Given the description of an element on the screen output the (x, y) to click on. 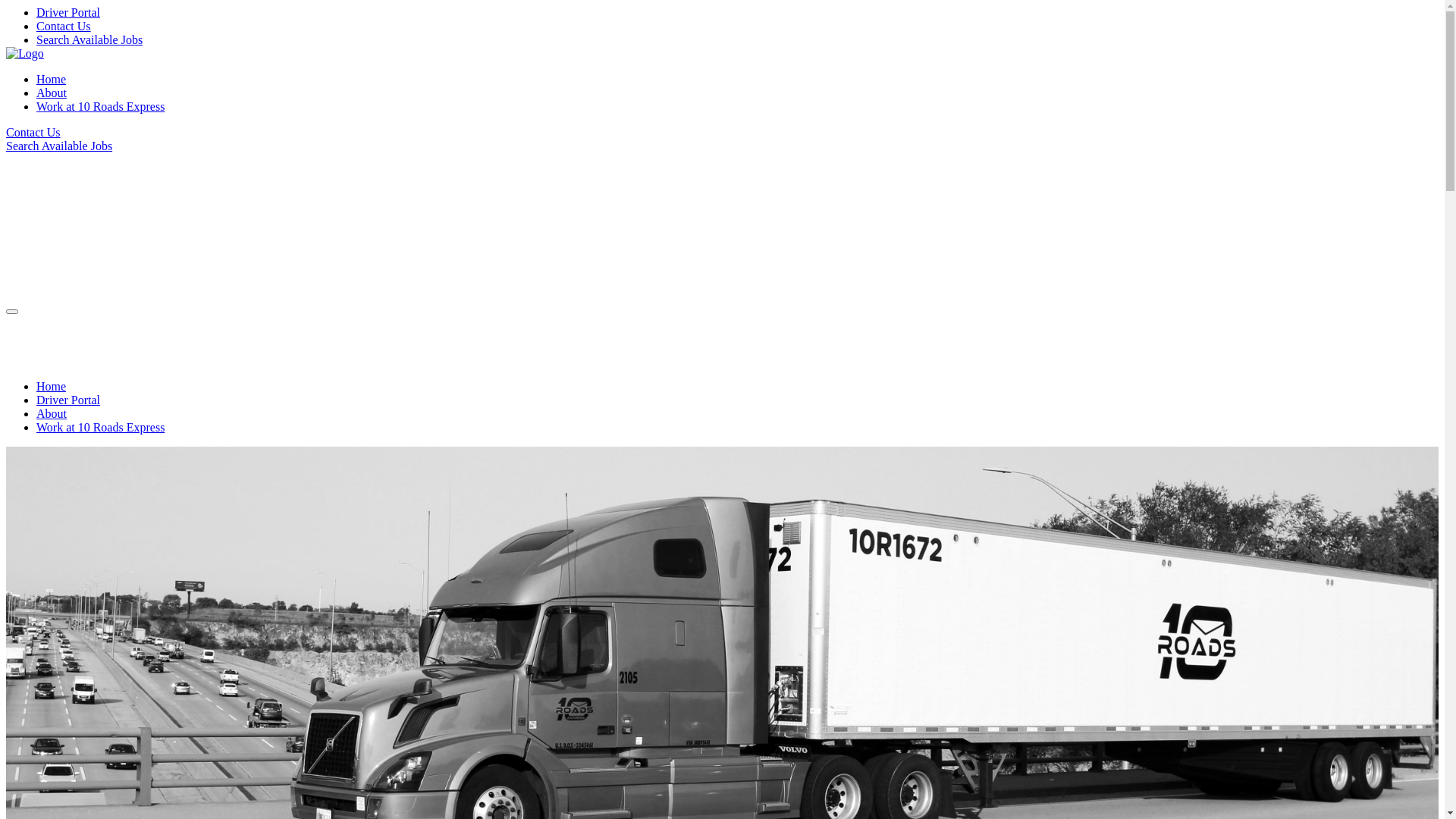
Contact Us Element type: text (33, 131)
Search Available Jobs Element type: text (89, 39)
Driver Portal Element type: text (68, 399)
Work at 10 Roads Express Element type: text (100, 426)
Search Available Jobs Element type: text (59, 145)
Driver Portal Element type: text (68, 12)
Work at 10 Roads Express Element type: text (100, 106)
About Element type: text (51, 92)
About Element type: text (51, 413)
Contact Us Element type: text (63, 25)
Home Element type: text (50, 385)
Home Element type: text (50, 78)
